Given the description of an element on the screen output the (x, y) to click on. 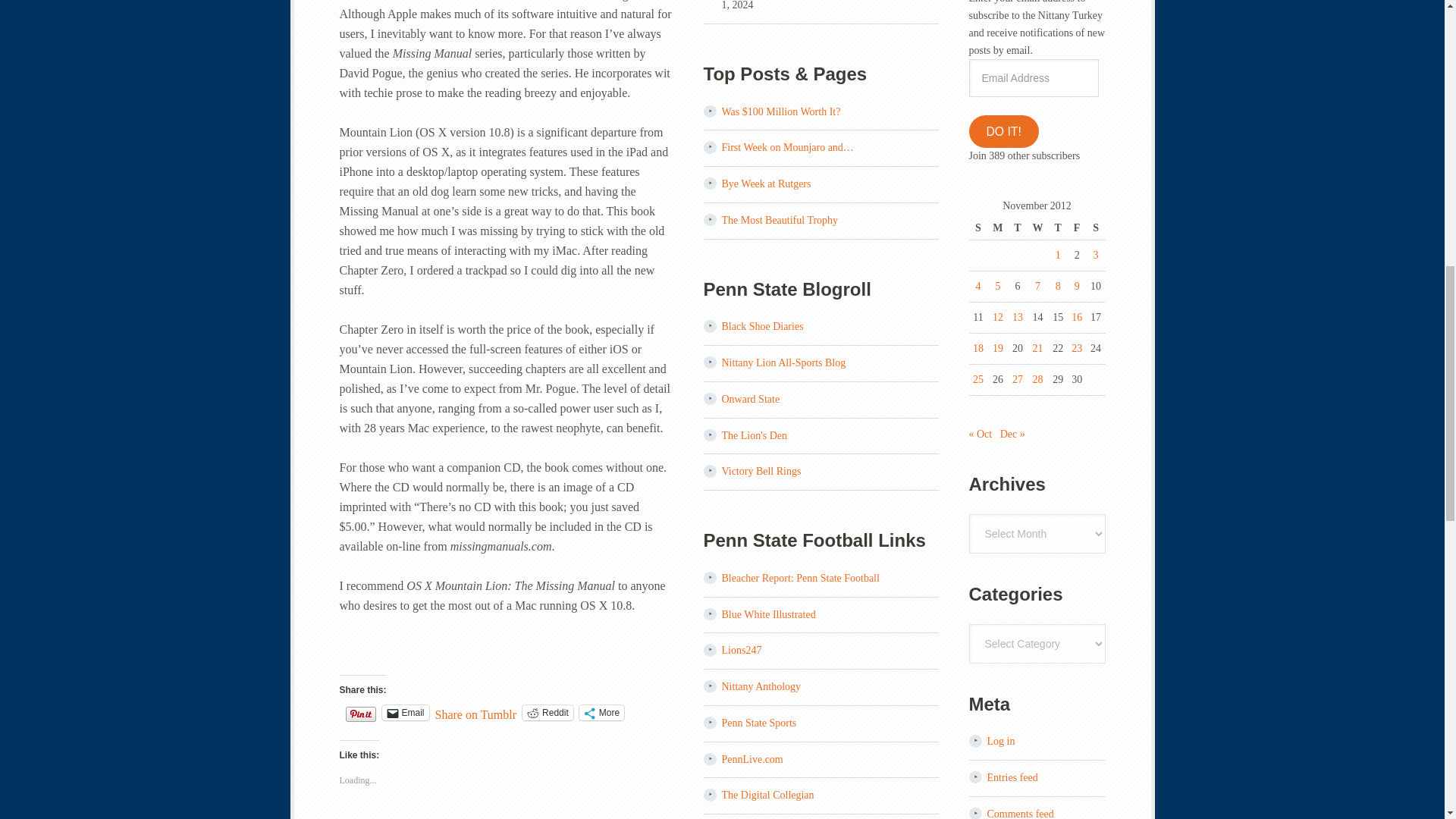
Reddit (547, 712)
Share on Tumblr (475, 712)
by Todd Sponsler. (754, 435)
Phil Grosz and company. Commentary about PSU sports. (768, 614)
Click to share on Reddit (547, 712)
Email (405, 712)
More (601, 712)
Click to email a link to a friend (405, 712)
Rocking Happy Valley since 2006. (762, 326)
